Given the description of an element on the screen output the (x, y) to click on. 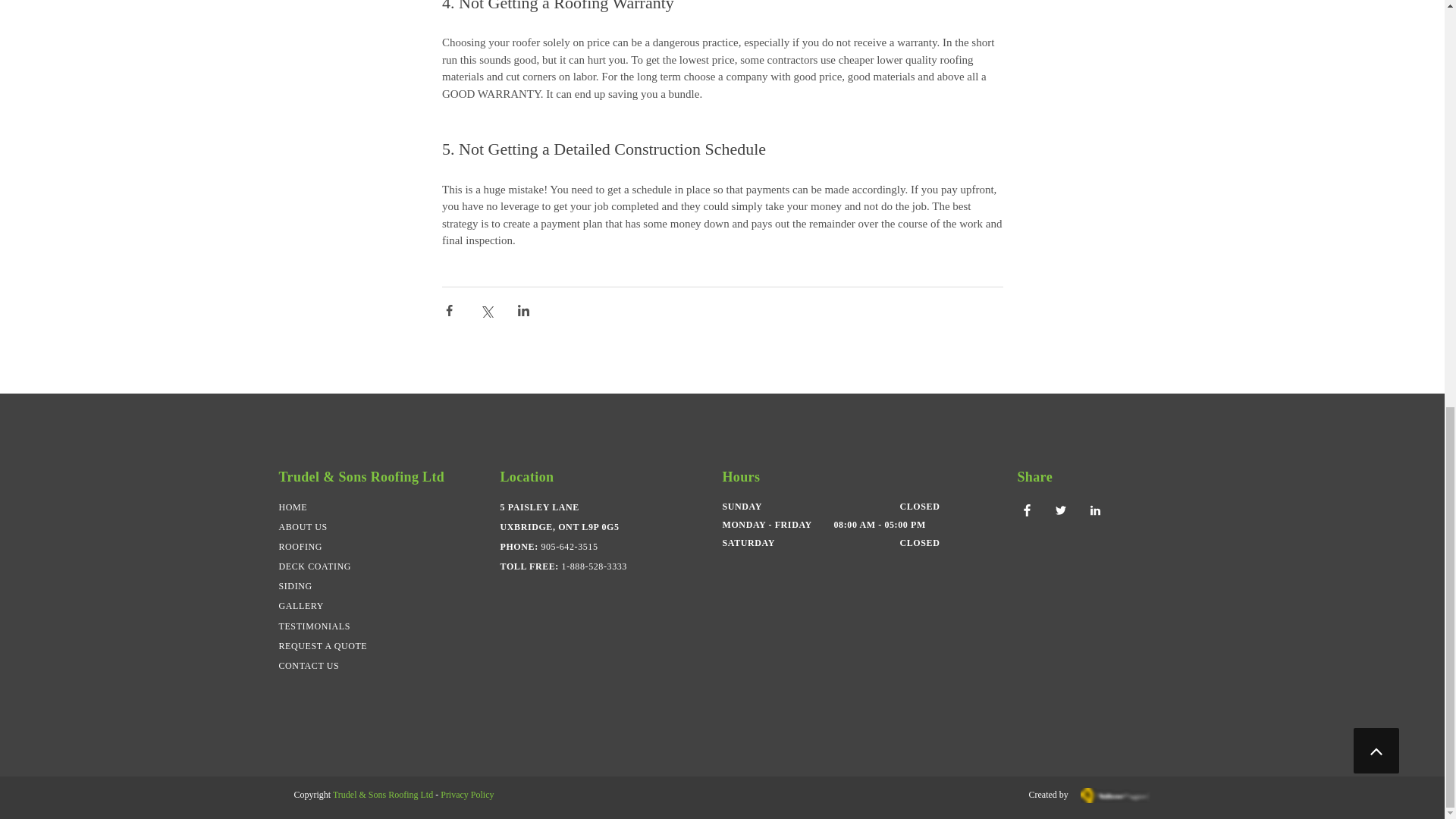
ROOFING (301, 546)
DECK COATING  (316, 566)
ABOUT US  (304, 527)
HOME (293, 507)
SIDING (296, 586)
